Given the description of an element on the screen output the (x, y) to click on. 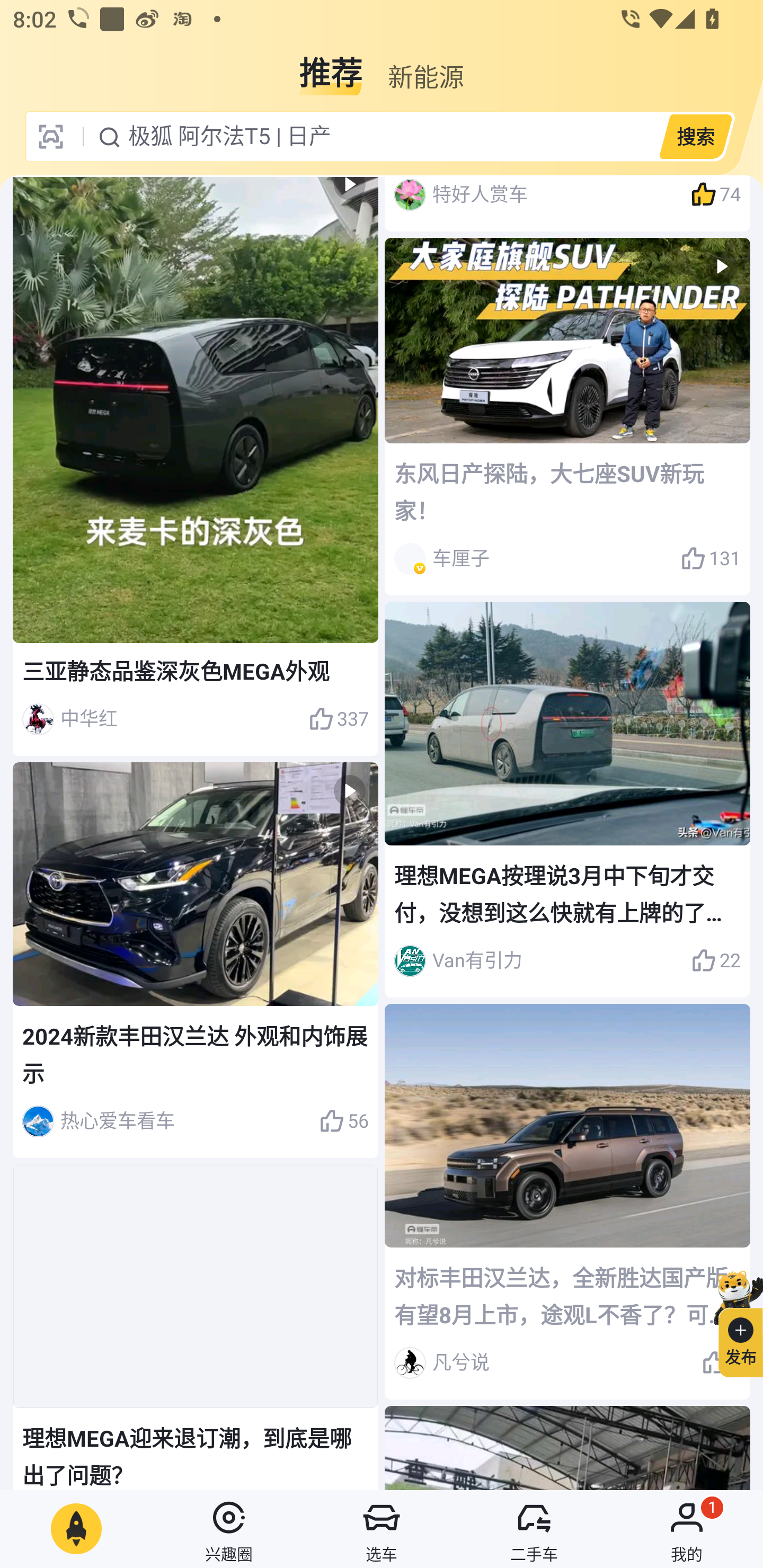
推荐 (330, 65)
新能源 (425, 65)
搜索 (695, 136)
 三亚静态品鉴深灰色MEGA外观 中华红 337 (195, 466)
74 (715, 198)
 东风日产探陆，大七座SUV新玩家！ 车厘子 131 (567, 416)
131 (710, 558)
337 (338, 719)
 2024新款丰田汉兰达 外观和内饰展示 热心爱车看车 56 (195, 960)
22 (715, 960)
56 (343, 1120)
理想MEGA迎来退订潮，到底是哪出了问题？ (195, 1327)
发布 (732, 1321)
 兴趣圈 (228, 1528)
 选车 (381, 1528)
 二手车 (533, 1528)
 我的 (686, 1528)
